Given the description of an element on the screen output the (x, y) to click on. 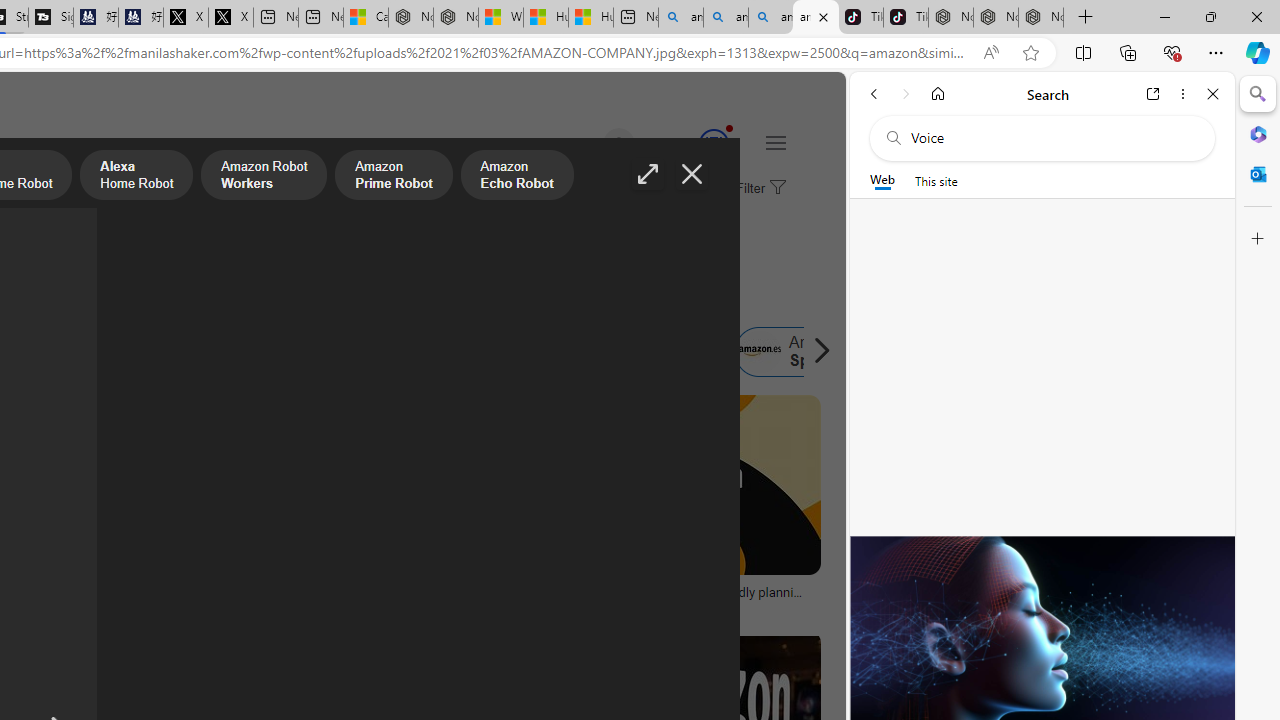
Collections (1128, 52)
theverge.com (685, 606)
Filter (758, 189)
Home (938, 93)
Amazon Prime Membership (128, 351)
Open link in new tab (1153, 93)
